Given the description of an element on the screen output the (x, y) to click on. 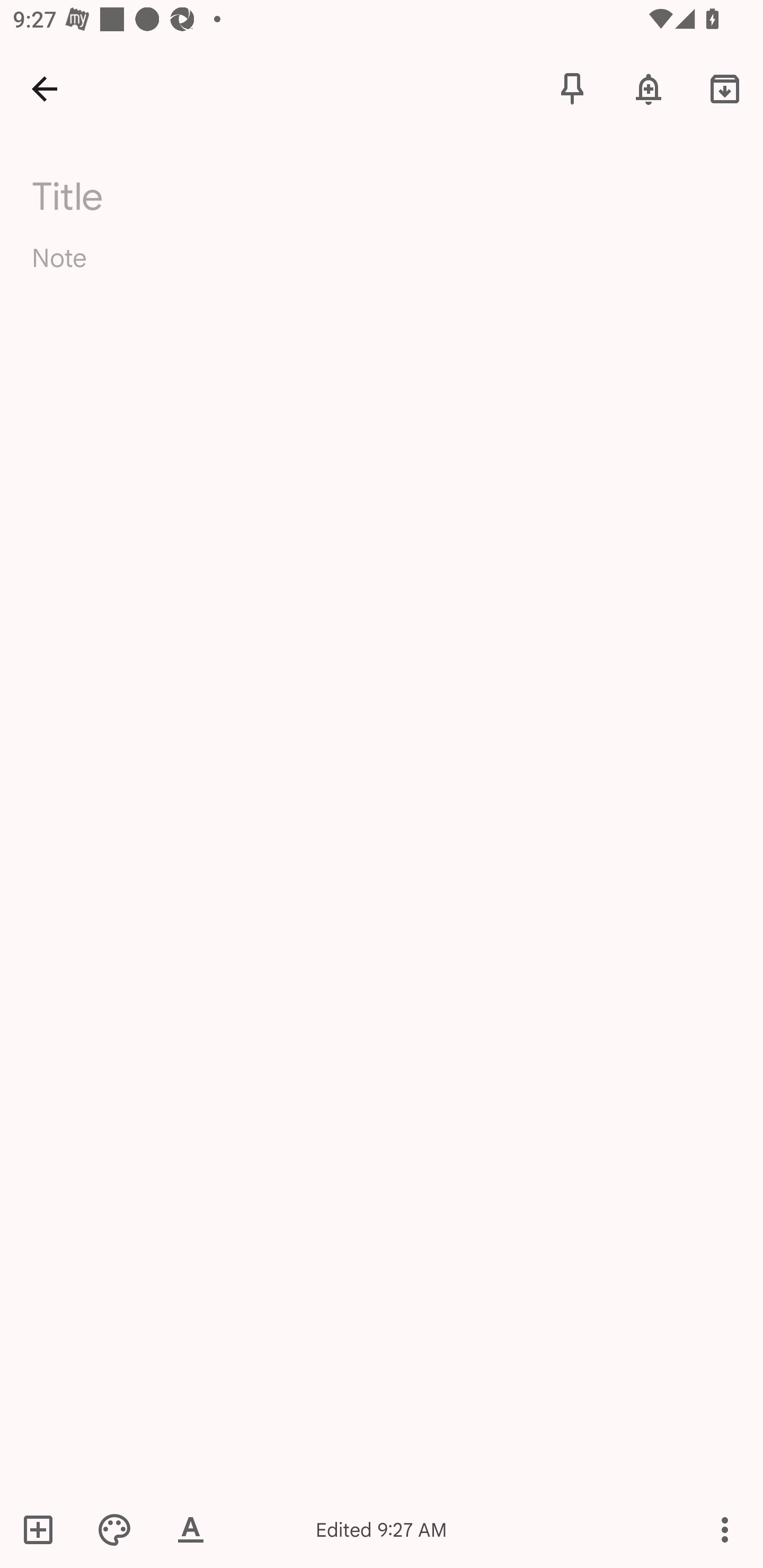
Navigate up (44, 88)
Pin (572, 88)
Reminder (648, 88)
Archive (724, 88)
.  (193, 192)
Note (381, 273)
New list (44, 1529)
Theme (114, 1529)
Show formatting controls (190, 1529)
Action (724, 1529)
